Given the description of an element on the screen output the (x, y) to click on. 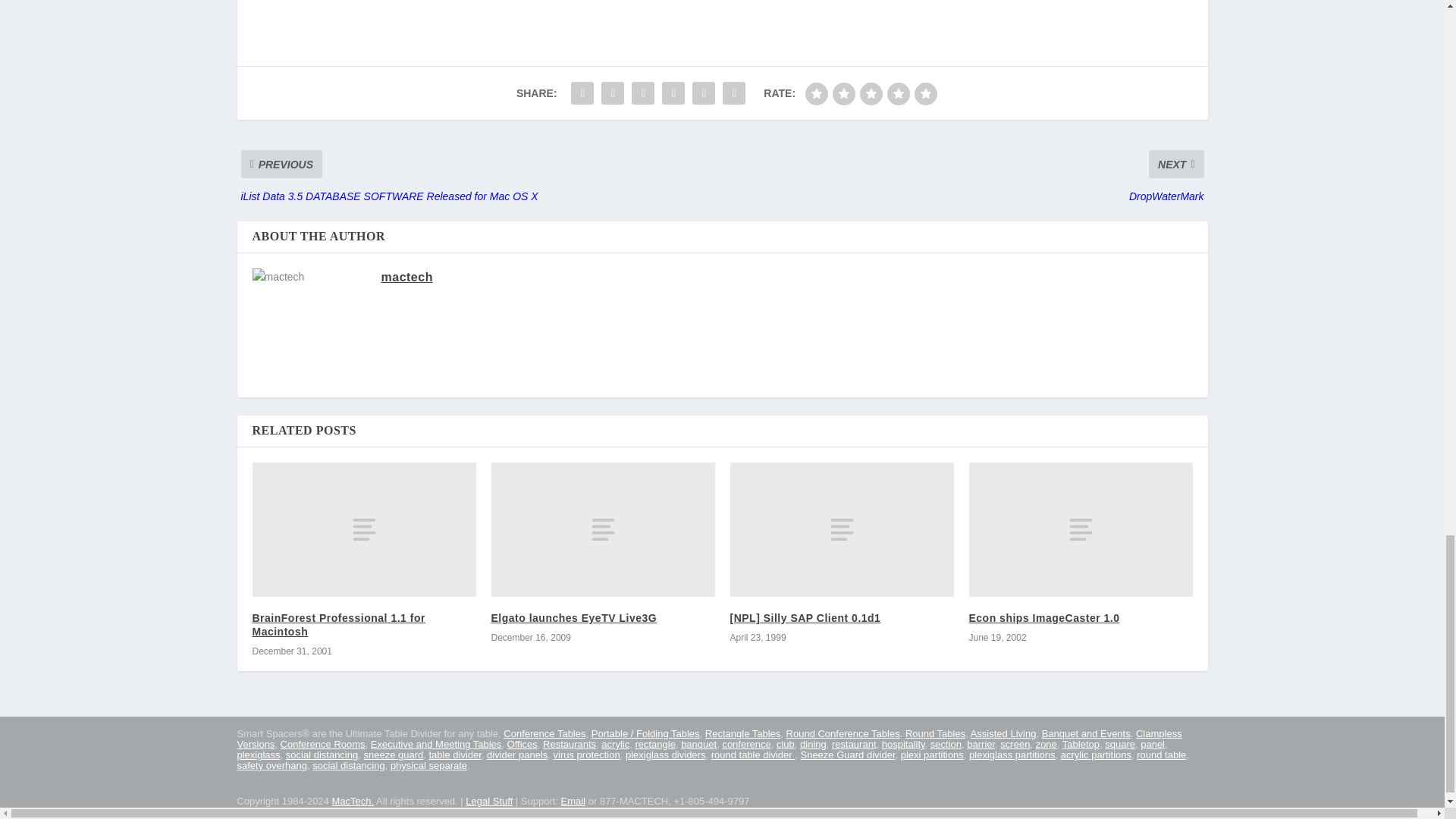
Share "VMware Fusion Beta 4" via LinkedIn (673, 92)
Share "VMware Fusion Beta 4" via Tumblr (642, 92)
Share "VMware Fusion Beta 4" via Facebook (581, 92)
Share "VMware Fusion Beta 4" via Twitter (611, 92)
Share "VMware Fusion Beta 4" via Stumbleupon (703, 92)
